Given the description of an element on the screen output the (x, y) to click on. 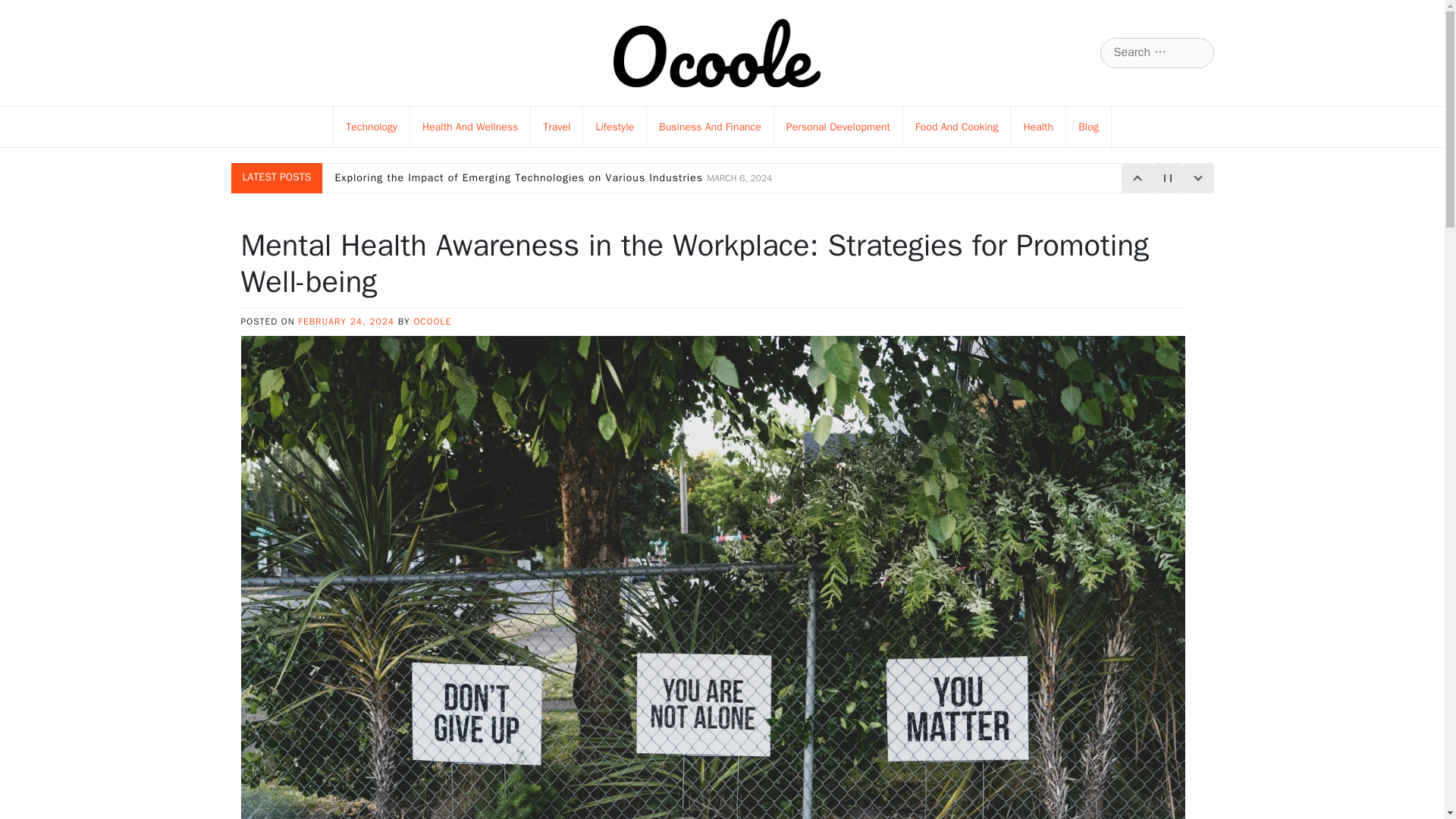
Personal Development (837, 127)
Health And Wellness (470, 127)
Food And Cooking (956, 127)
Technology (371, 127)
Search (31, 12)
Business And Finance (710, 127)
Lifestyle (614, 127)
